Given the description of an element on the screen output the (x, y) to click on. 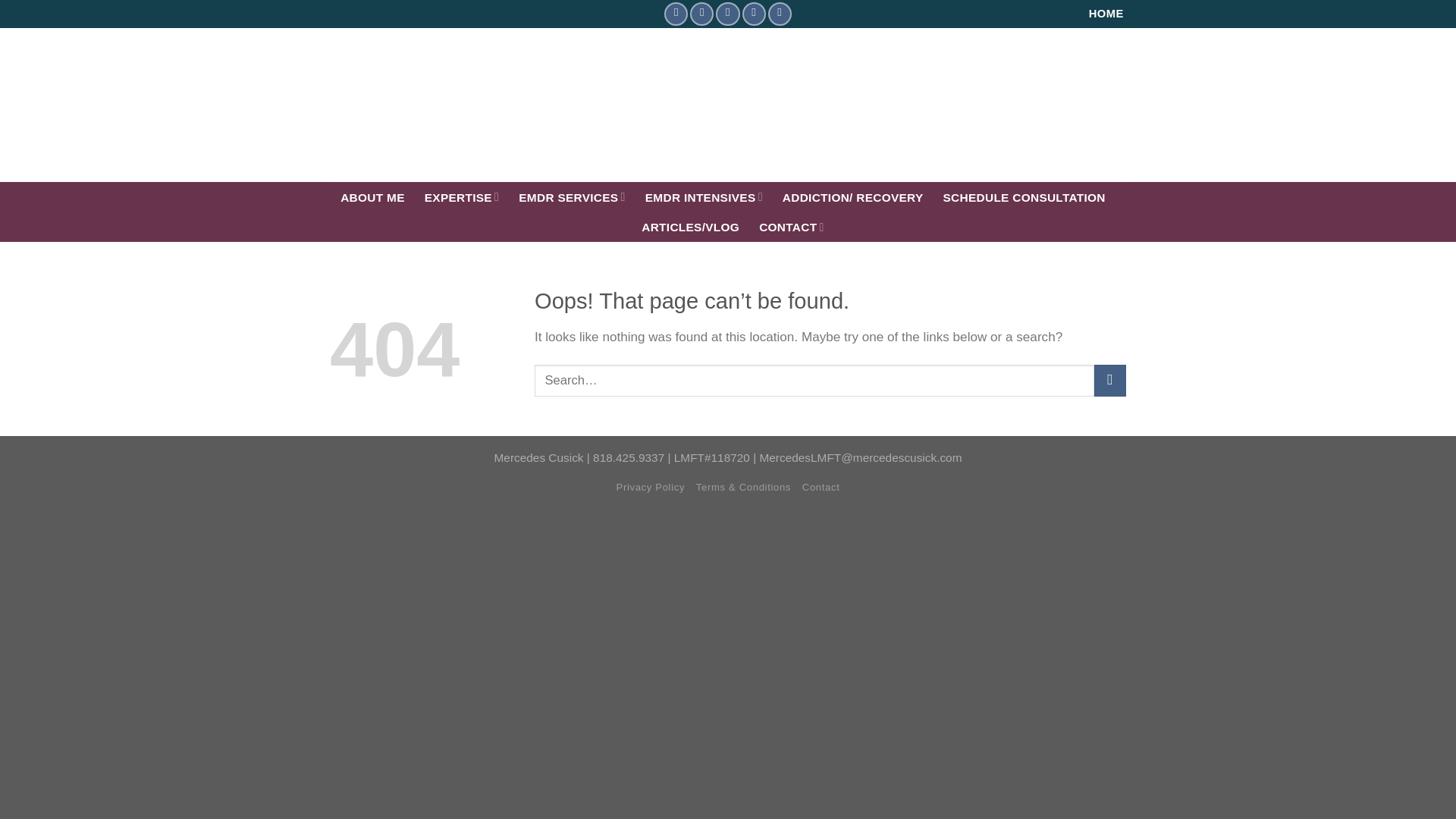
Contact (821, 487)
CONTACT (791, 226)
EMDR INTENSIVES (703, 196)
HOME (1105, 13)
Follow on Instagram (701, 13)
EMDR SERVICES (572, 196)
ABOUT ME (372, 197)
SCHEDULE CONSULTATION (1024, 197)
Privacy Policy (650, 487)
Follow on Facebook (675, 13)
